Given the description of an element on the screen output the (x, y) to click on. 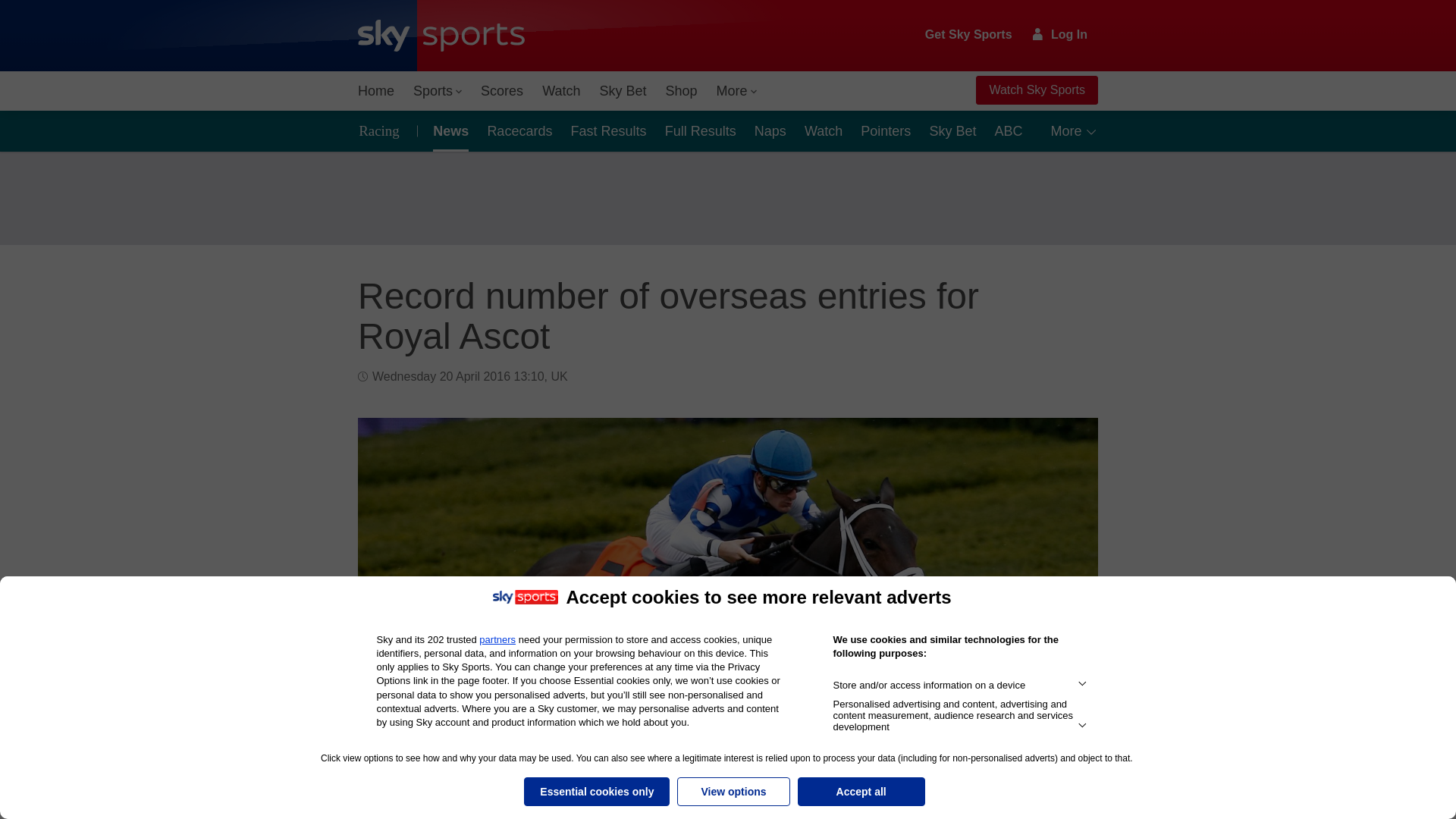
Racing (383, 130)
Home (375, 91)
More (736, 91)
Watch Sky Sports (1036, 90)
Scores (502, 91)
Sports (437, 91)
Log In (1060, 33)
Get Sky Sports (968, 34)
Shop (681, 91)
Sky Bet (622, 91)
